Given the description of an element on the screen output the (x, y) to click on. 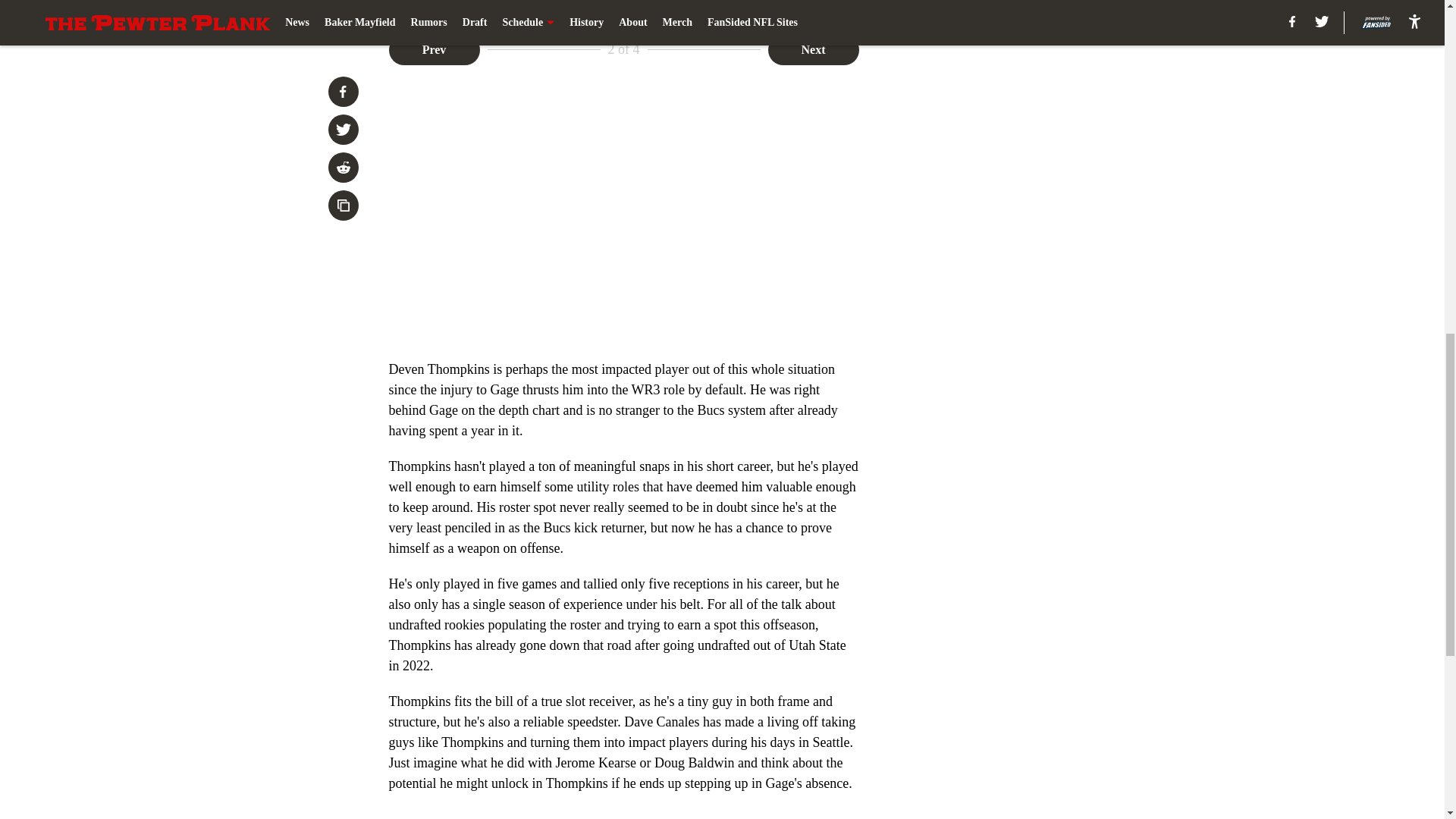
Next (813, 50)
Prev (433, 50)
